Given the description of an element on the screen output the (x, y) to click on. 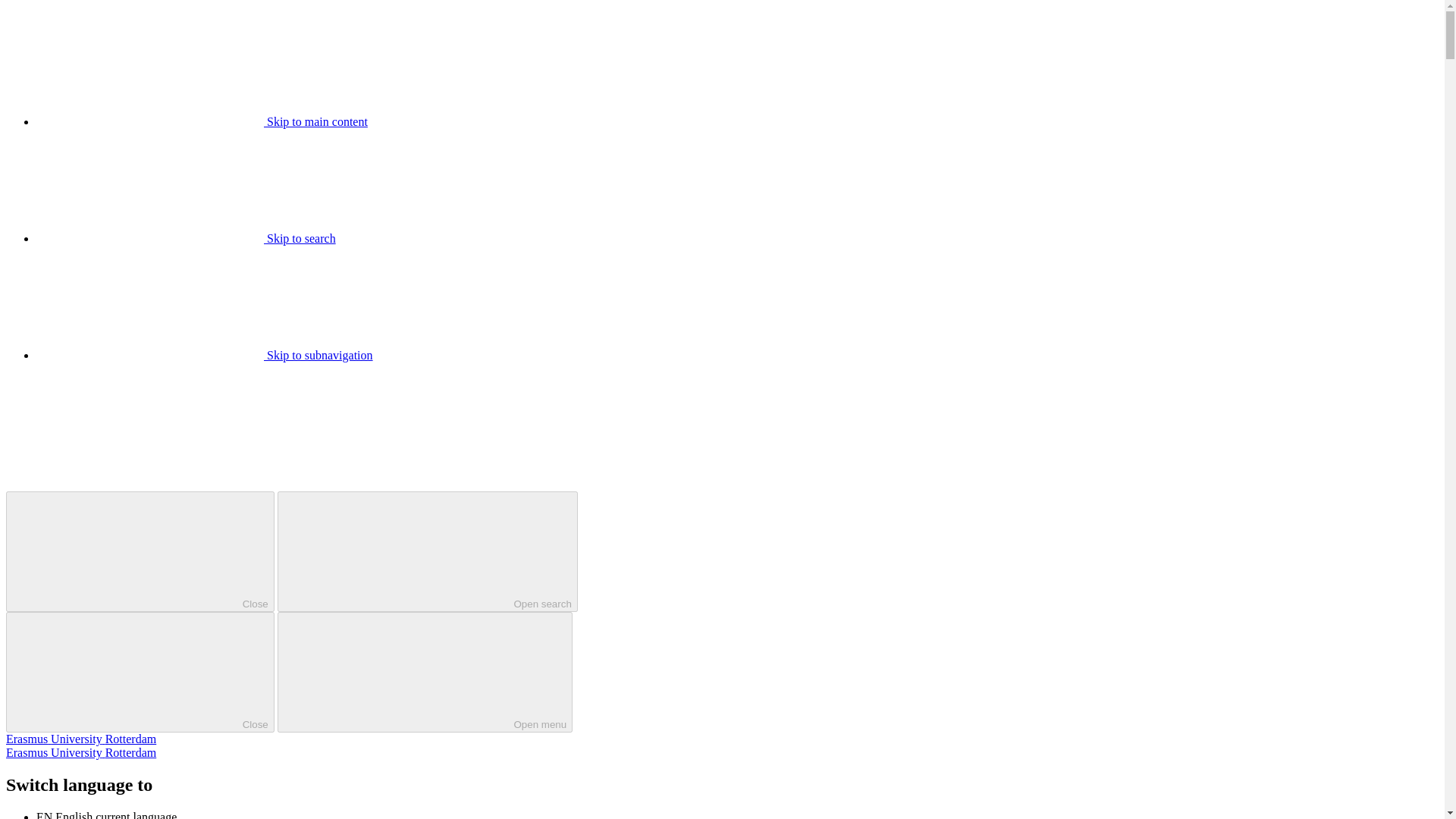
Open search (428, 551)
Skip to main content (202, 121)
Close (140, 551)
Erasmus University Rotterdam (80, 752)
Erasmus University Rotterdam (80, 738)
Close (140, 671)
Open menu (425, 671)
Skip to search (186, 237)
Skip to subnavigation (204, 354)
